Given the description of an element on the screen output the (x, y) to click on. 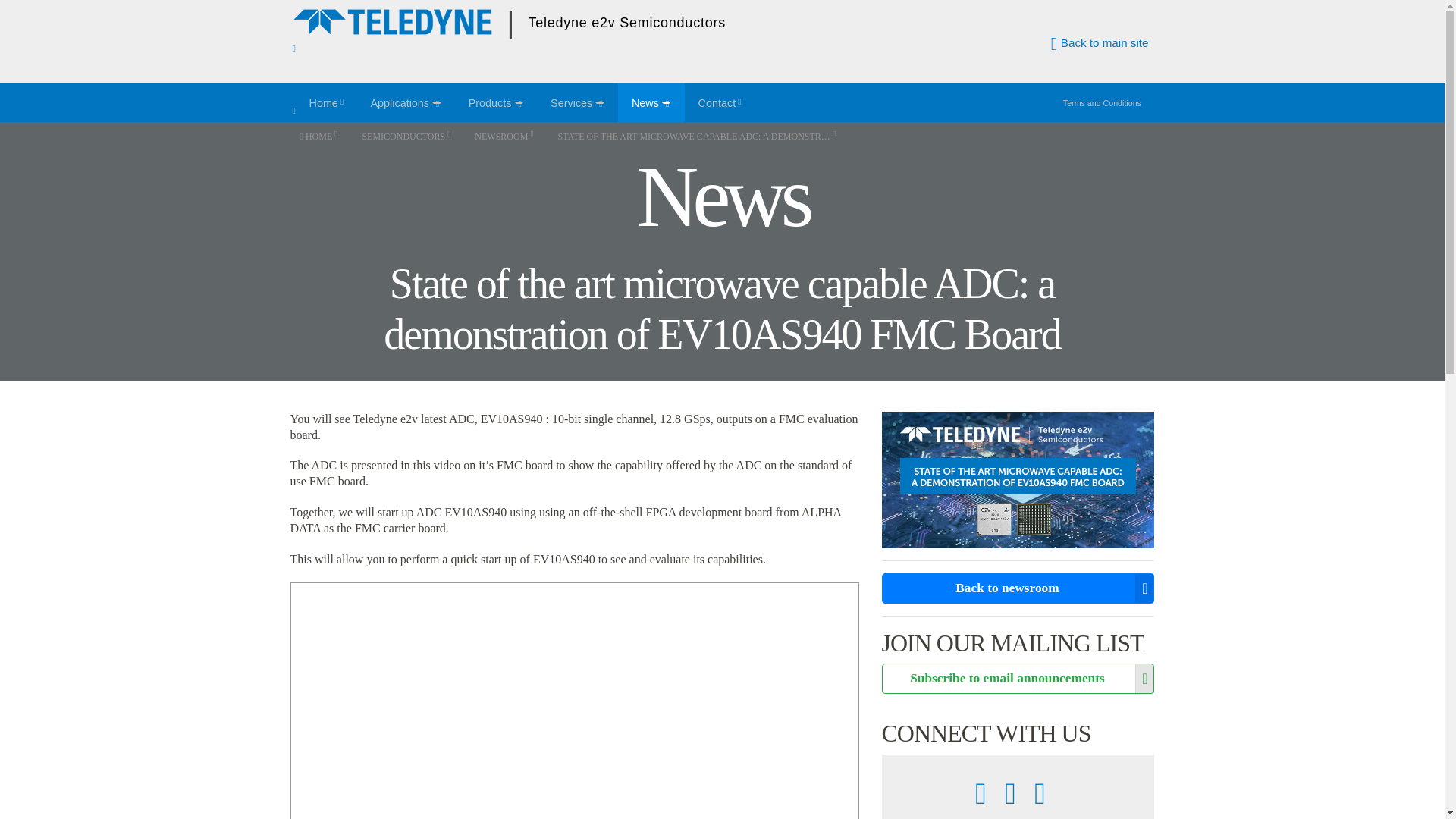
Applications (405, 102)
Back to main site (1099, 41)
Newsroom (503, 136)
News (650, 102)
Products (495, 102)
Semiconductors (405, 136)
Services (577, 102)
Home (325, 102)
